Given the description of an element on the screen output the (x, y) to click on. 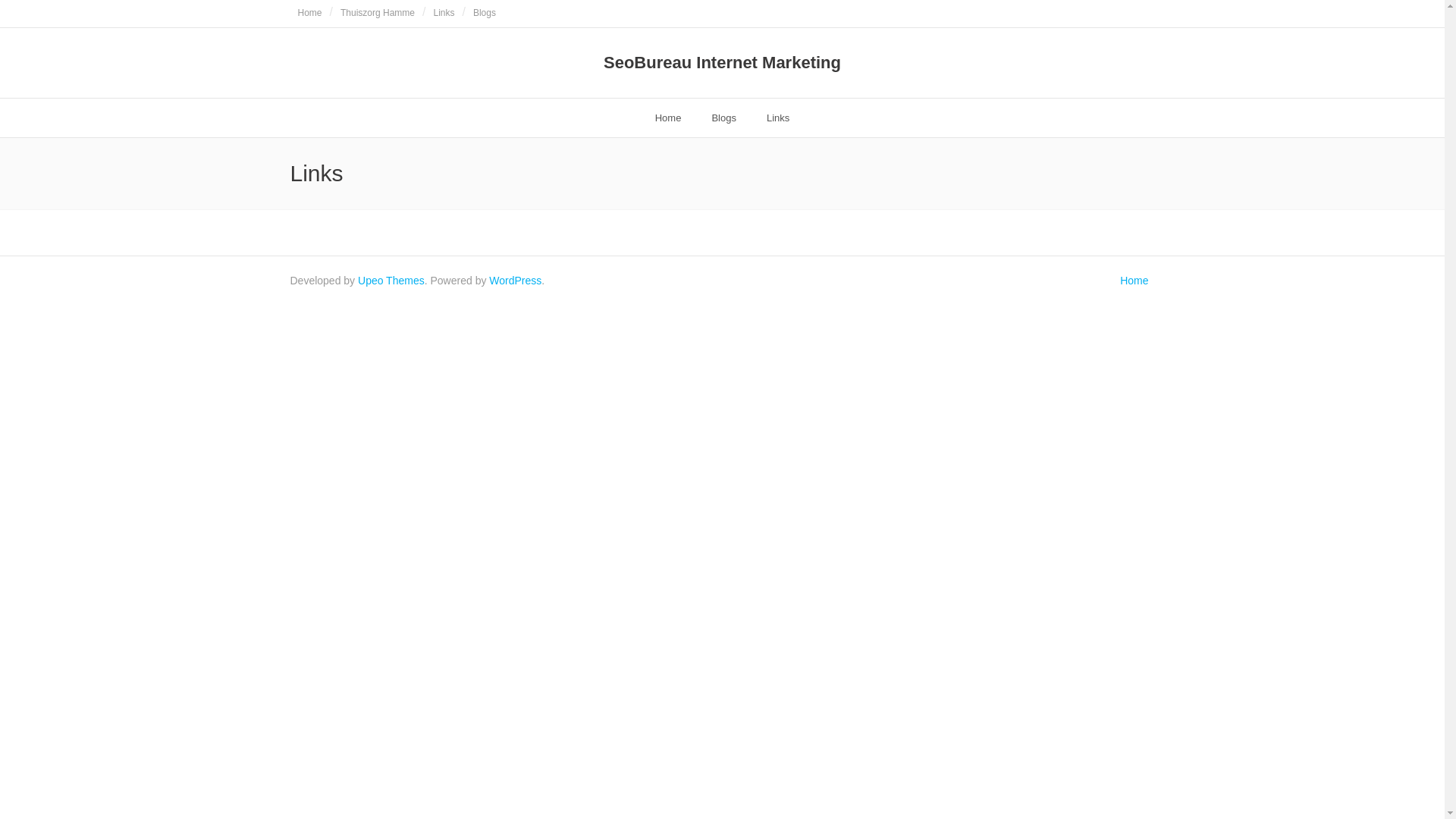
SeoBureau Internet Marketing Element type: text (722, 62)
Links Element type: text (777, 117)
WordPress Element type: text (515, 280)
Home Element type: text (668, 117)
Blogs Element type: text (484, 13)
Links Element type: text (443, 13)
Upeo Themes Element type: text (390, 280)
Blogs Element type: text (723, 117)
Thuiszorg Hamme Element type: text (377, 13)
Home Element type: text (309, 13)
Home Element type: text (1133, 280)
